Given the description of an element on the screen output the (x, y) to click on. 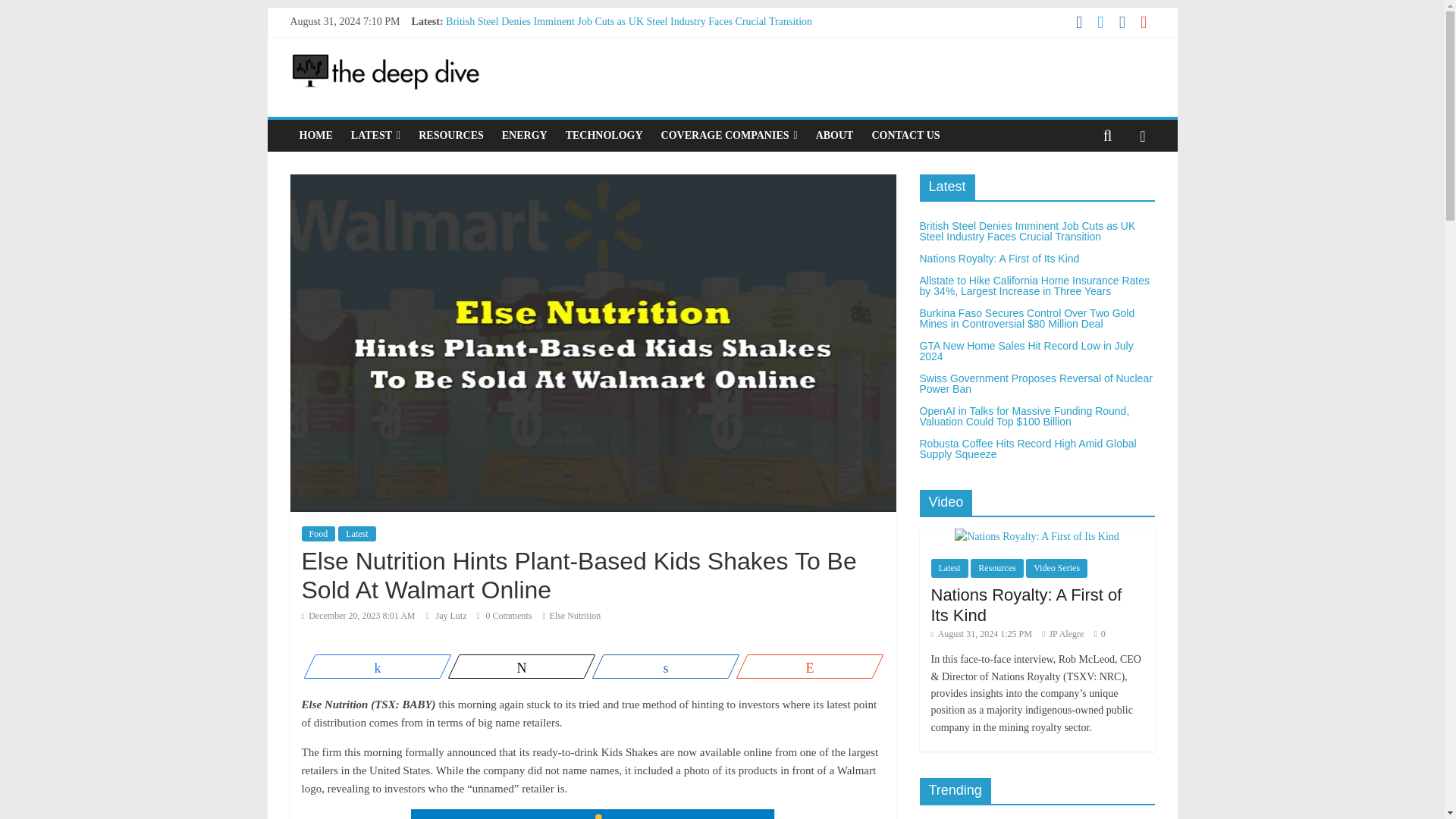
HOME (314, 135)
RESOURCES (451, 135)
GTA New Home Sales Hit Record Low in July 2024 (557, 89)
LATEST (375, 135)
COVERAGE COMPANIES (729, 135)
Nations Royalty: A First of Its Kind (521, 38)
Jay Lutz (451, 615)
GTA New Home Sales Hit Record Low in July 2024 (557, 89)
Nations Royalty: A First of Its Kind (521, 38)
